Given the description of an element on the screen output the (x, y) to click on. 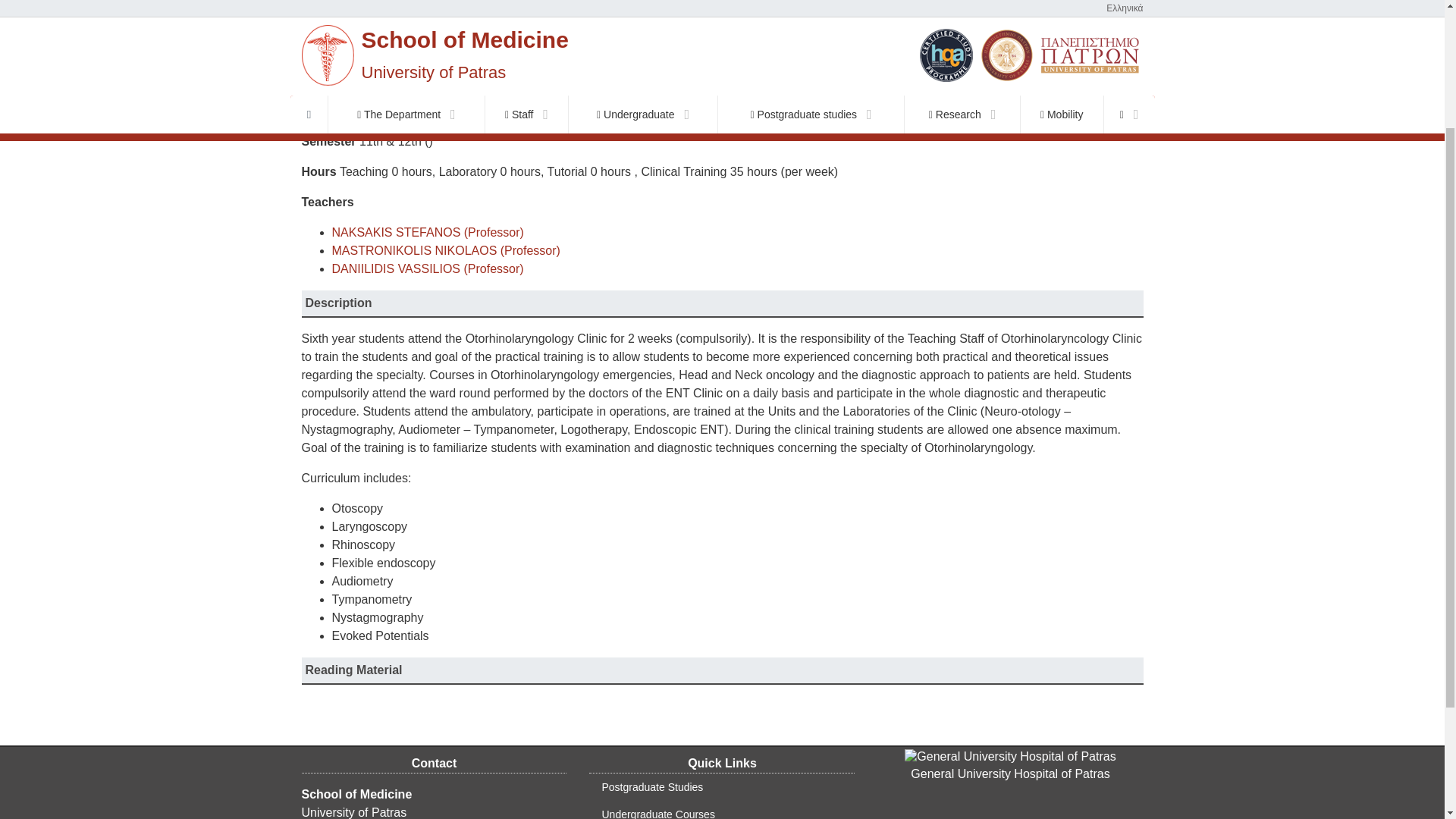
Home (330, 68)
Undergraduate Courses (422, 68)
